Given the description of an element on the screen output the (x, y) to click on. 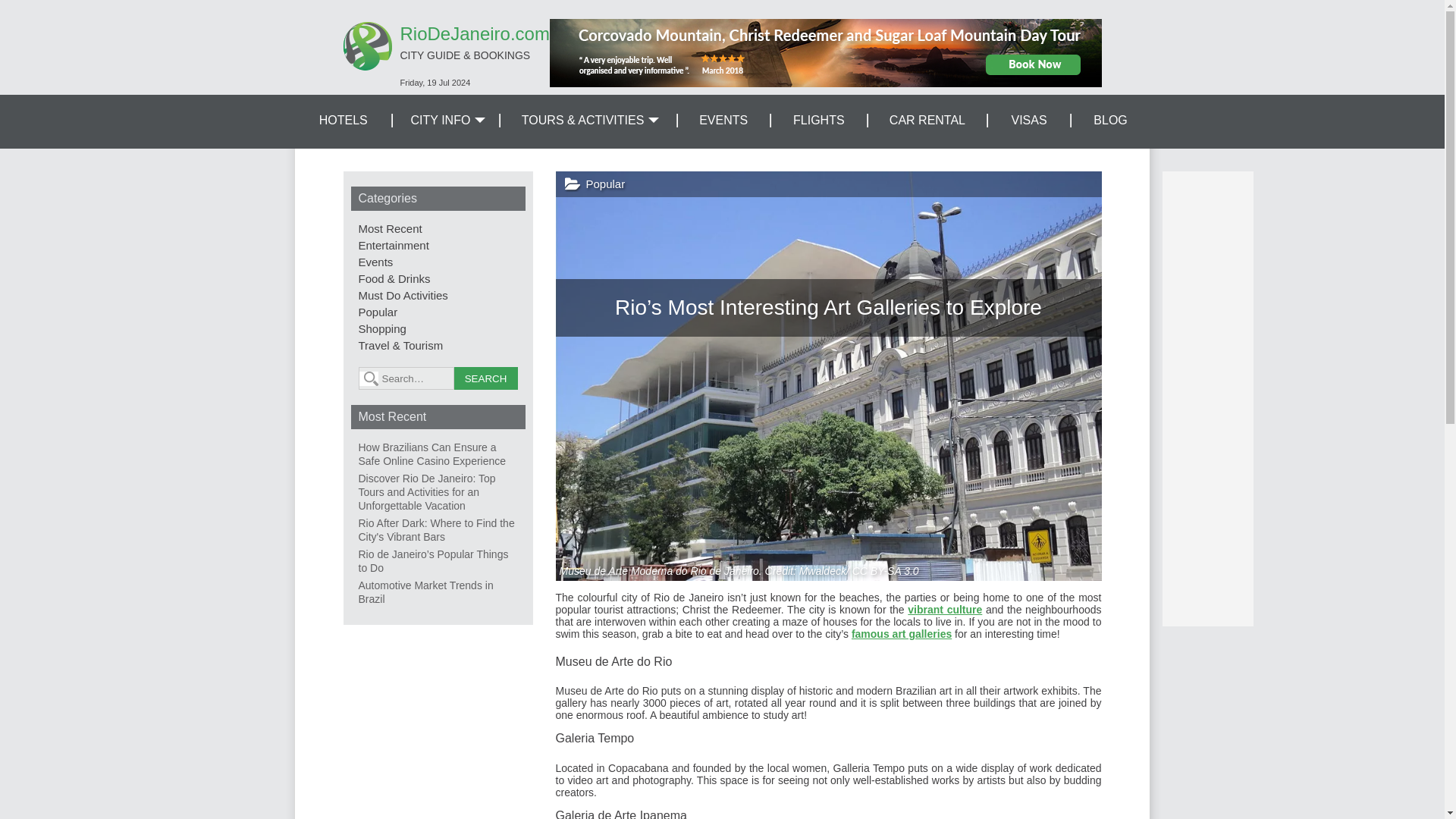
search (484, 377)
HOTELS (343, 120)
CITY INFO (445, 120)
